Given the description of an element on the screen output the (x, y) to click on. 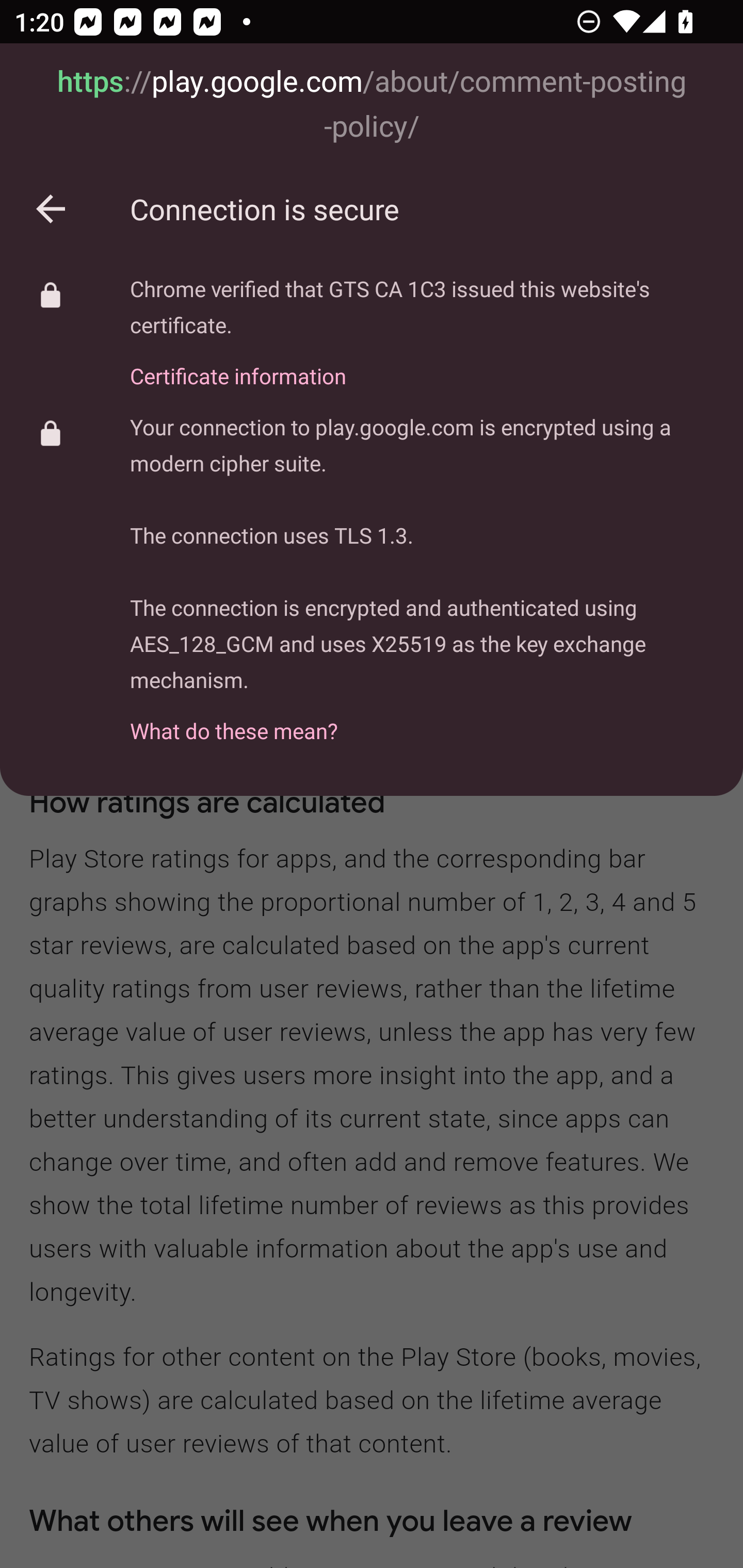
Back (50, 209)
Certificate information (422, 364)
What do these mean? (422, 719)
